Given the description of an element on the screen output the (x, y) to click on. 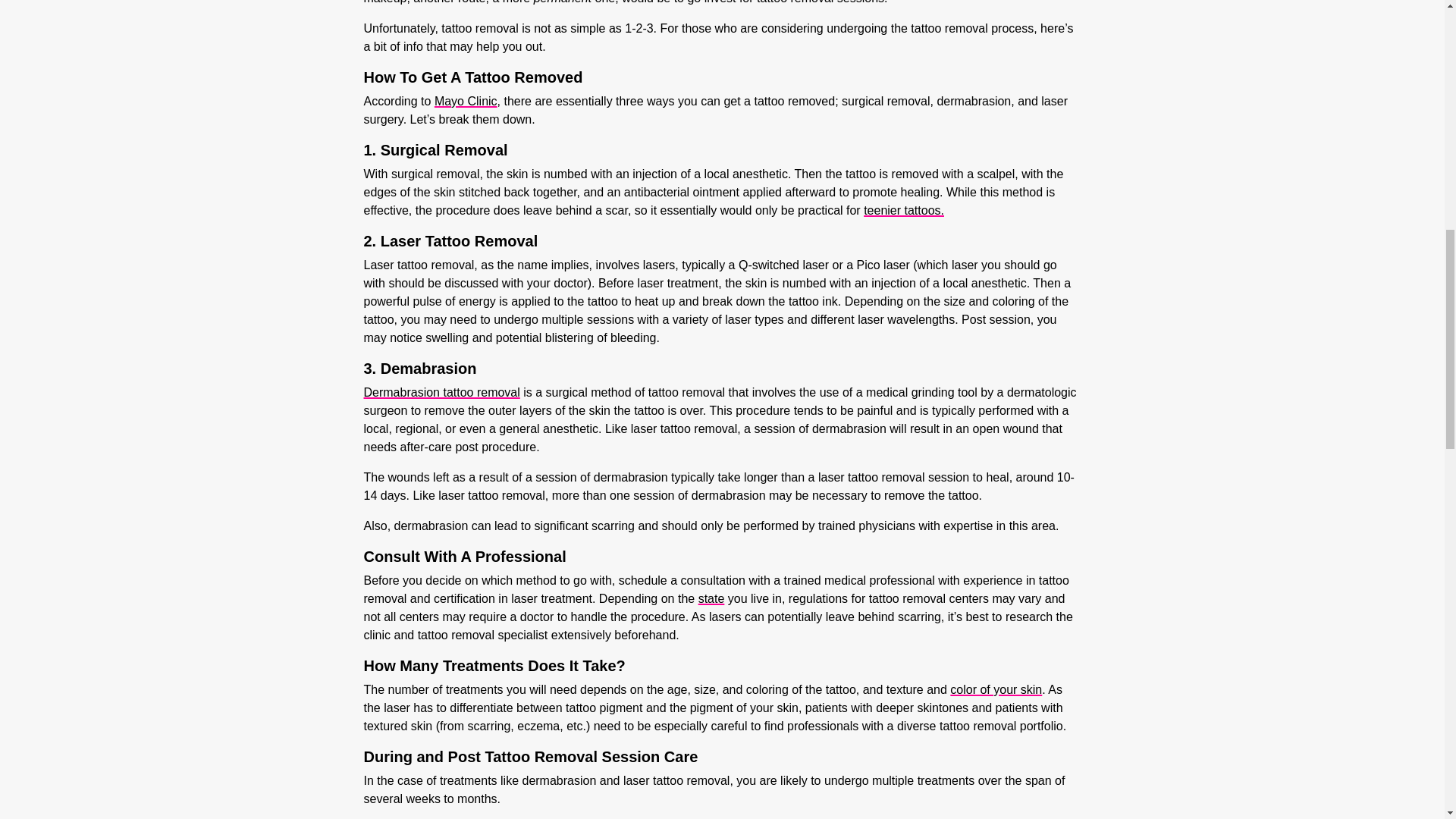
Dermabrasion tattoo removal (441, 391)
Mayo Clinic (465, 100)
teenier tattoos. (903, 209)
